Given the description of an element on the screen output the (x, y) to click on. 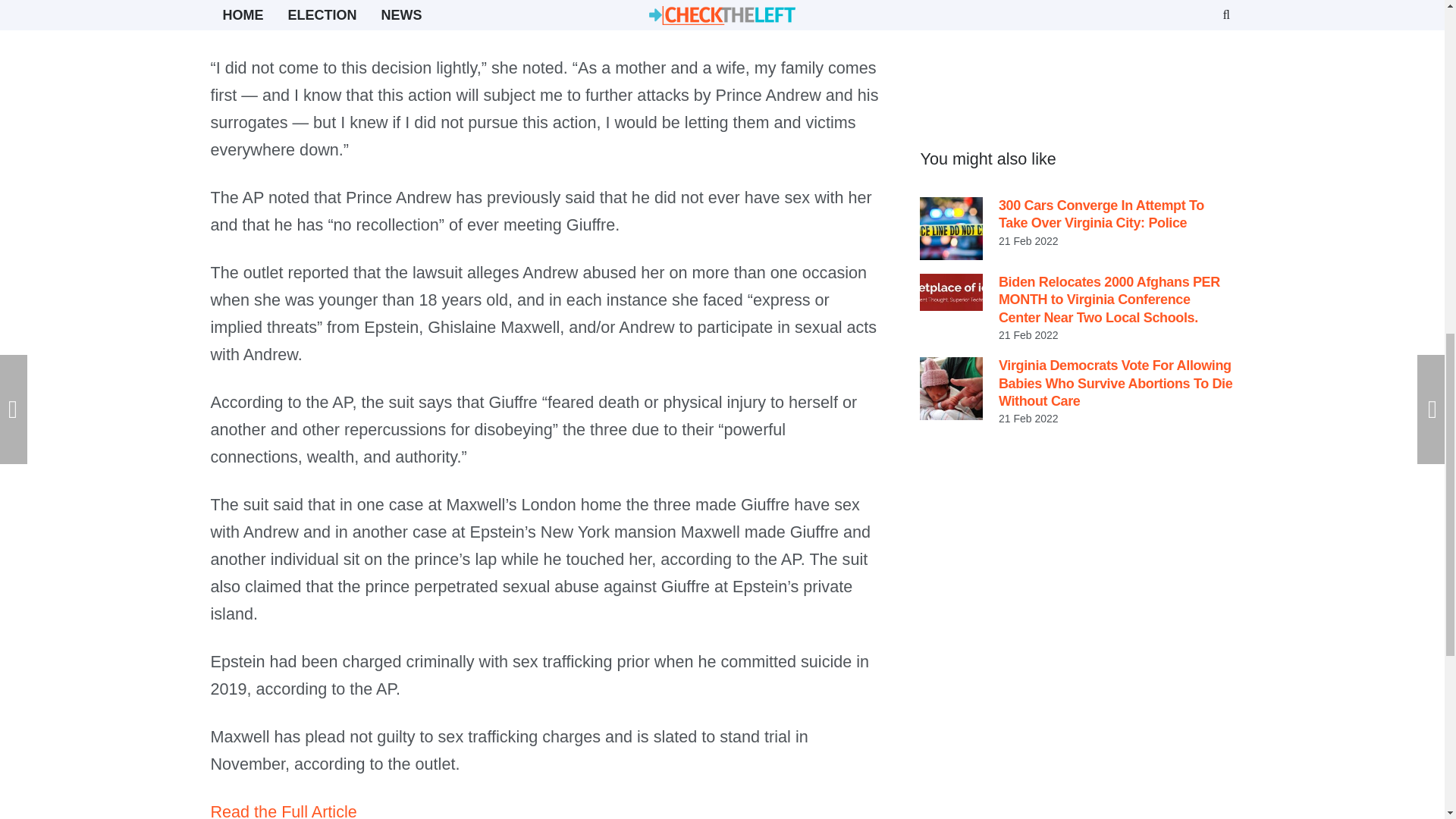
Read the Full Article (283, 810)
